Given the description of an element on the screen output the (x, y) to click on. 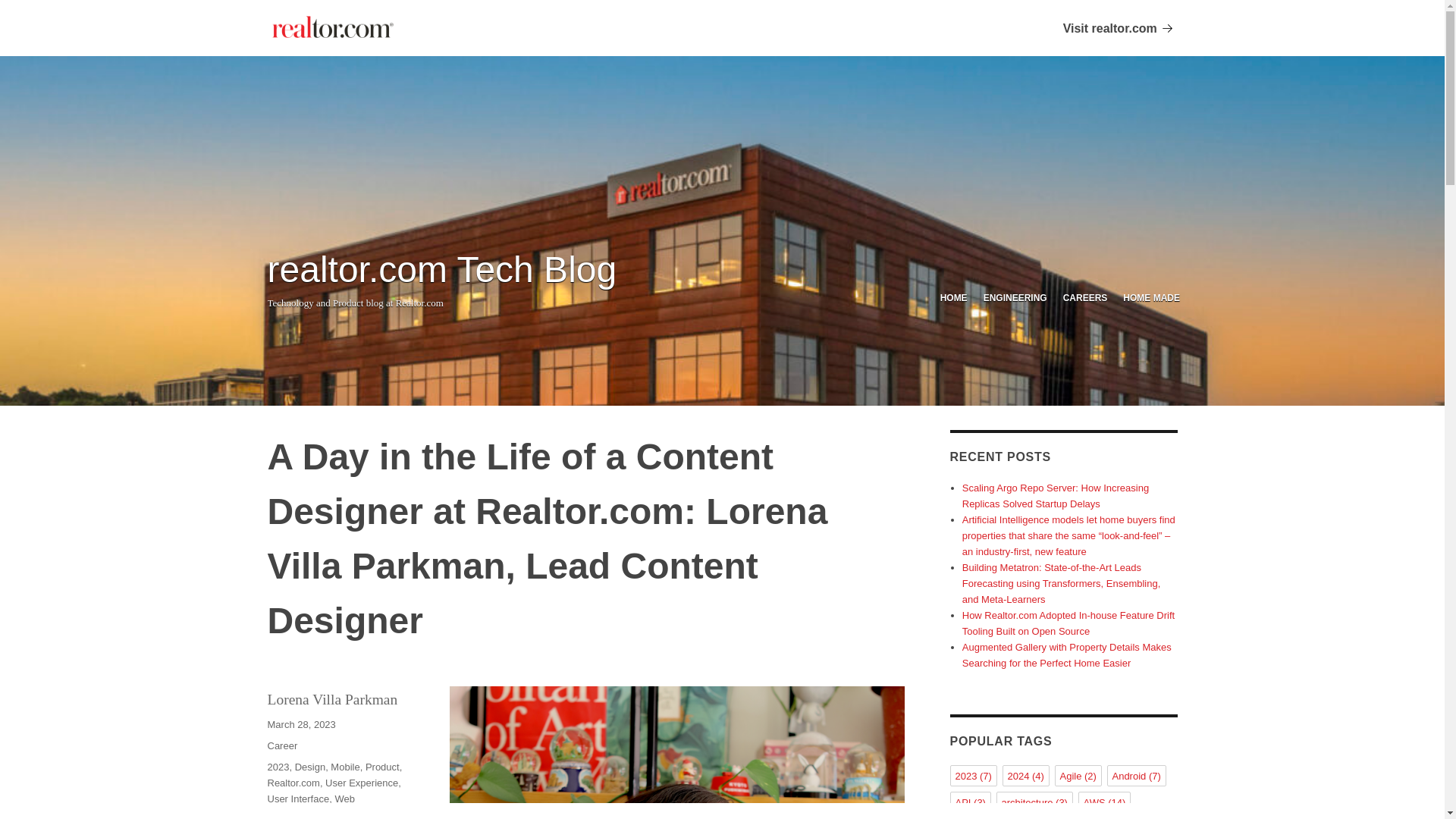
Realtor.com (292, 782)
ENGINEERING (1014, 299)
User Experience (360, 782)
Web (344, 798)
Career (281, 745)
CAREERS (1084, 299)
March 28, 2023 (300, 724)
